Given the description of an element on the screen output the (x, y) to click on. 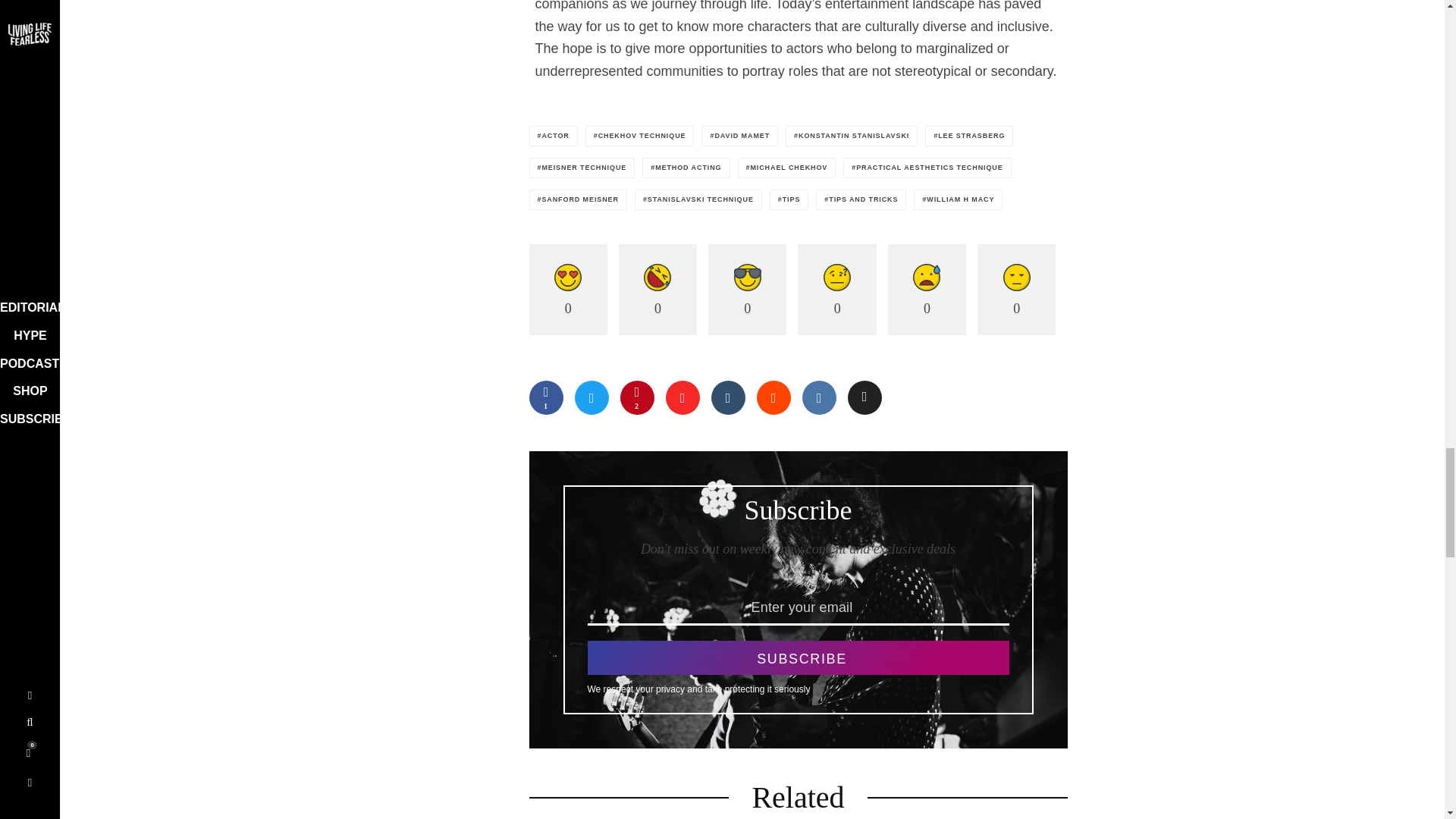
MEISNER TECHNIQUE (581, 168)
LEE STRASBERG (968, 136)
Subscribe (797, 657)
KONSTANTIN STANISLAVSKI (851, 136)
METHOD ACTING (685, 168)
ACTOR (553, 136)
DAVID MAMET (739, 136)
CHEKHOV TECHNIQUE (639, 136)
